Given the description of an element on the screen output the (x, y) to click on. 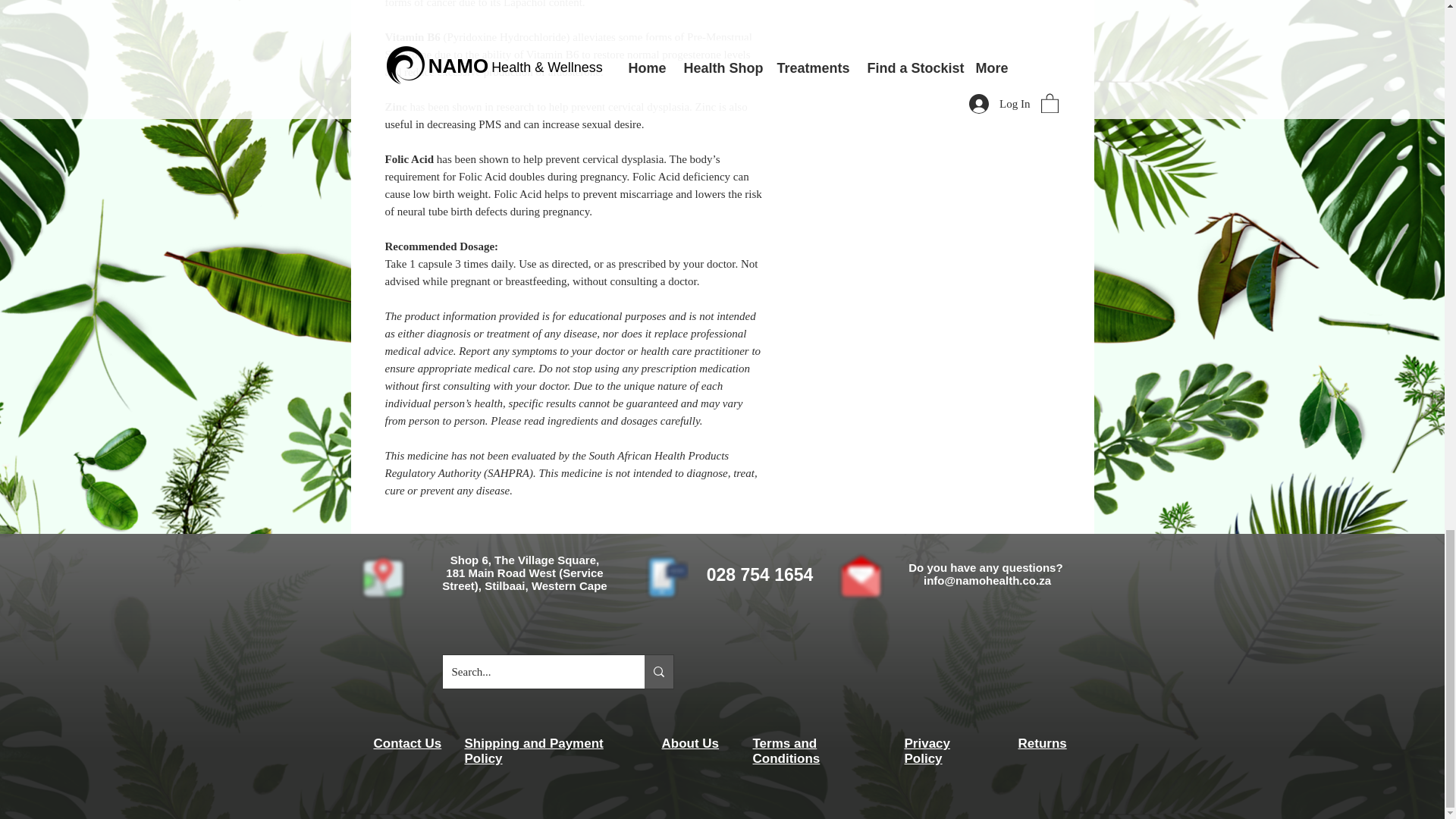
Contact Us (406, 743)
Privacy Policy (927, 750)
Shipping and Payment Policy (533, 750)
Terms and Conditions (785, 750)
About Us (690, 743)
